Given the description of an element on the screen output the (x, y) to click on. 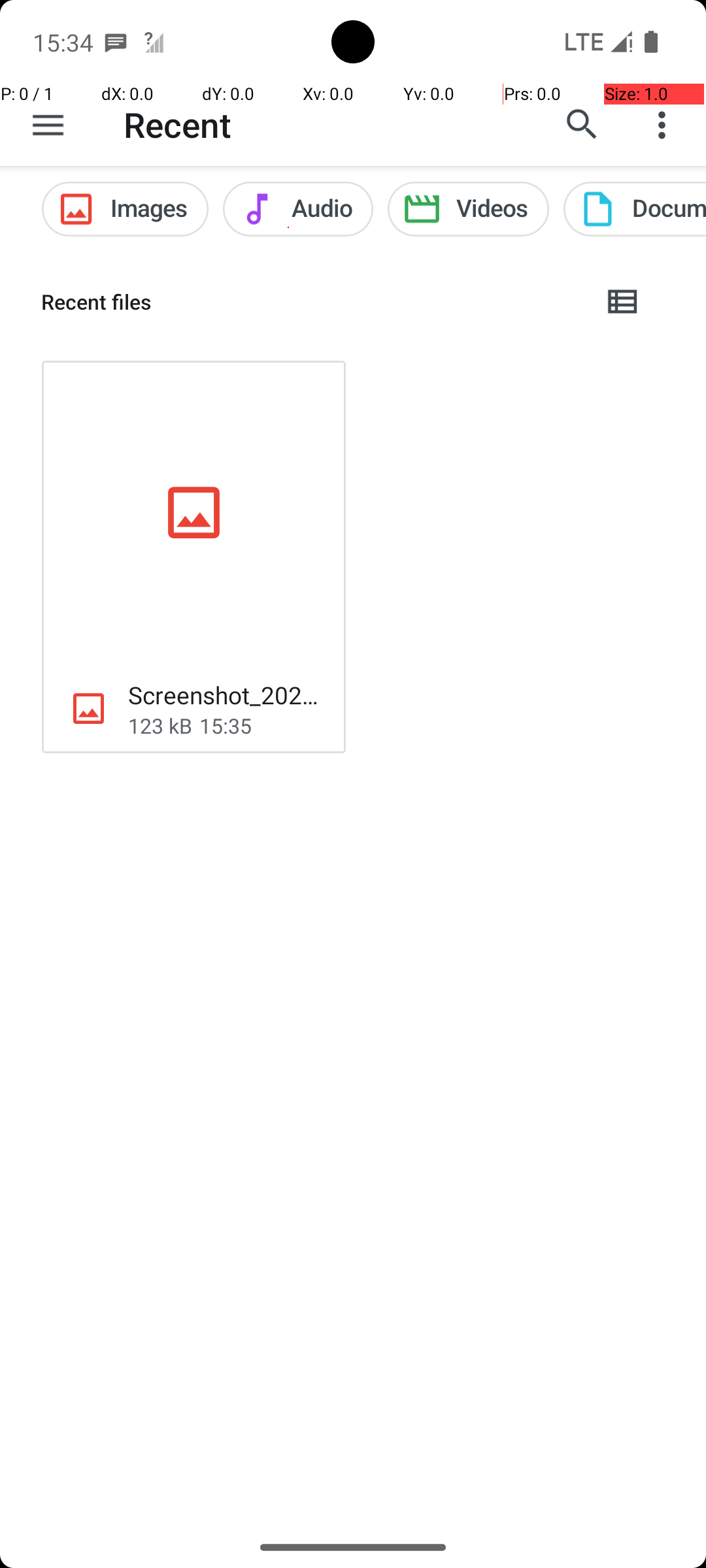
Screenshot_20231015-153555.png Element type: android.widget.TextView (226, 694)
123 kB Element type: android.widget.TextView (160, 725)
